Given the description of an element on the screen output the (x, y) to click on. 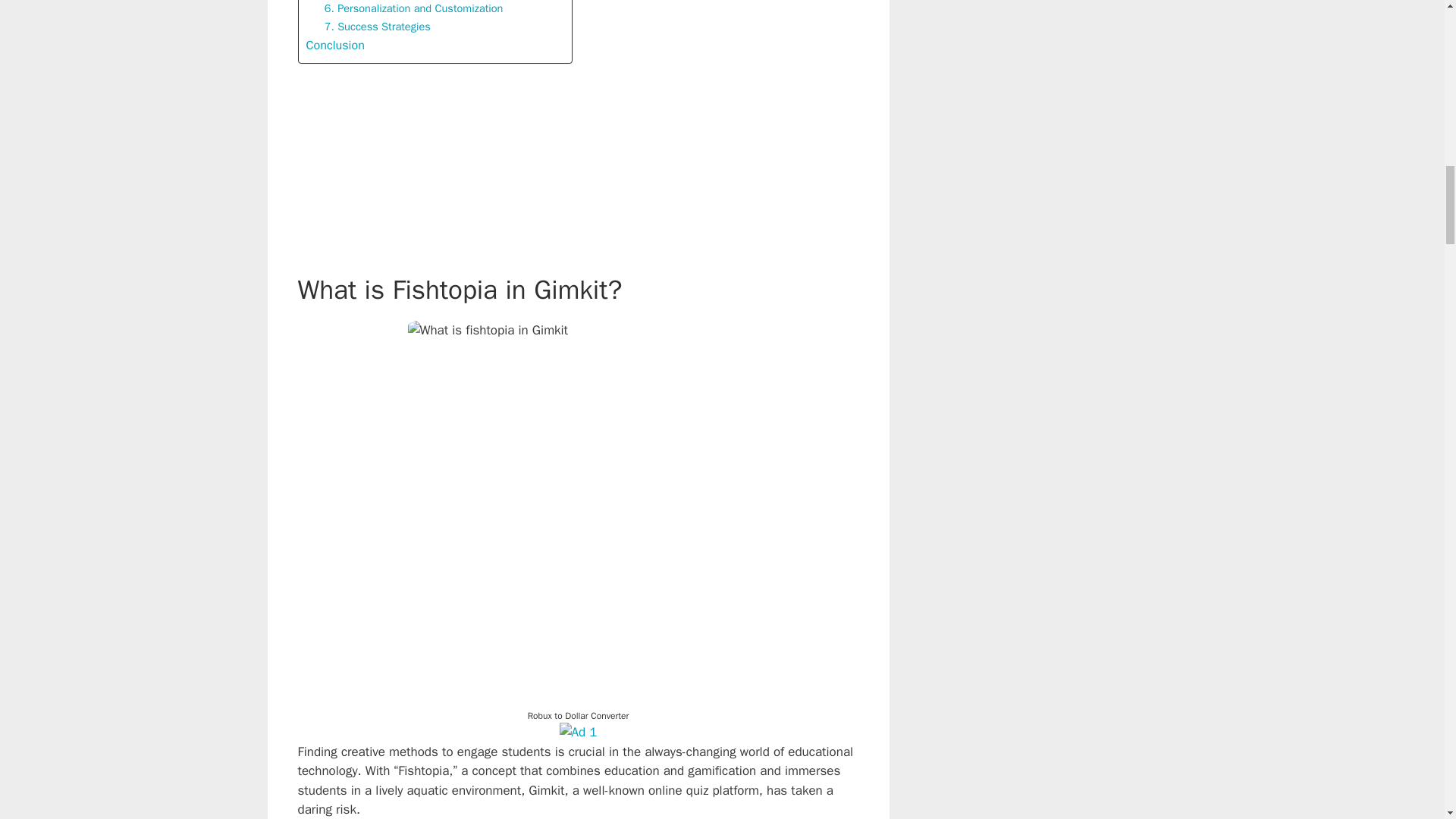
7. Success Strategies (377, 27)
Conclusion (335, 45)
6. Personalization and Customization (413, 8)
